Given the description of an element on the screen output the (x, y) to click on. 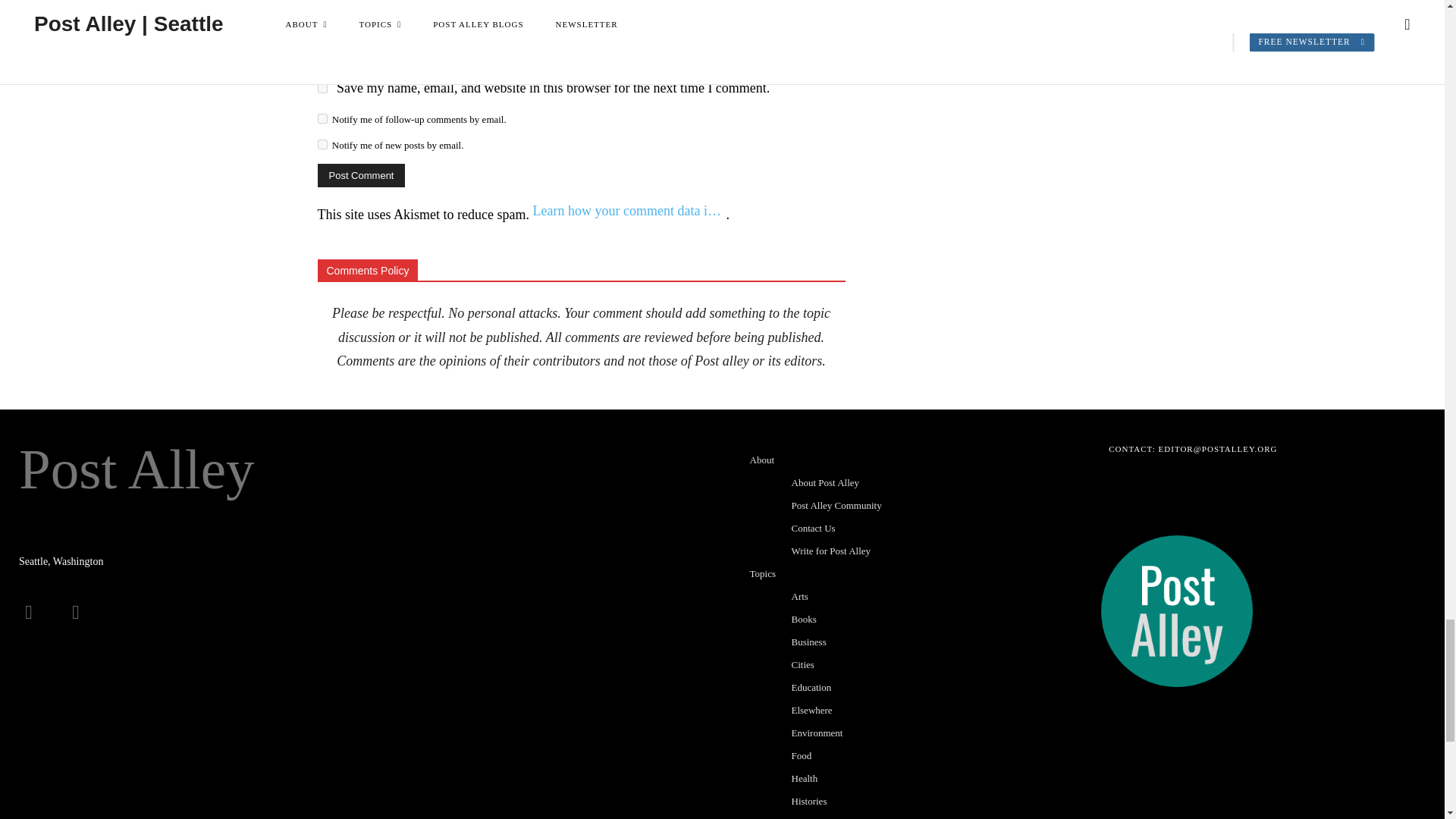
subscribe (321, 144)
subscribe (321, 118)
yes (321, 88)
Post Comment (360, 175)
